Given the description of an element on the screen output the (x, y) to click on. 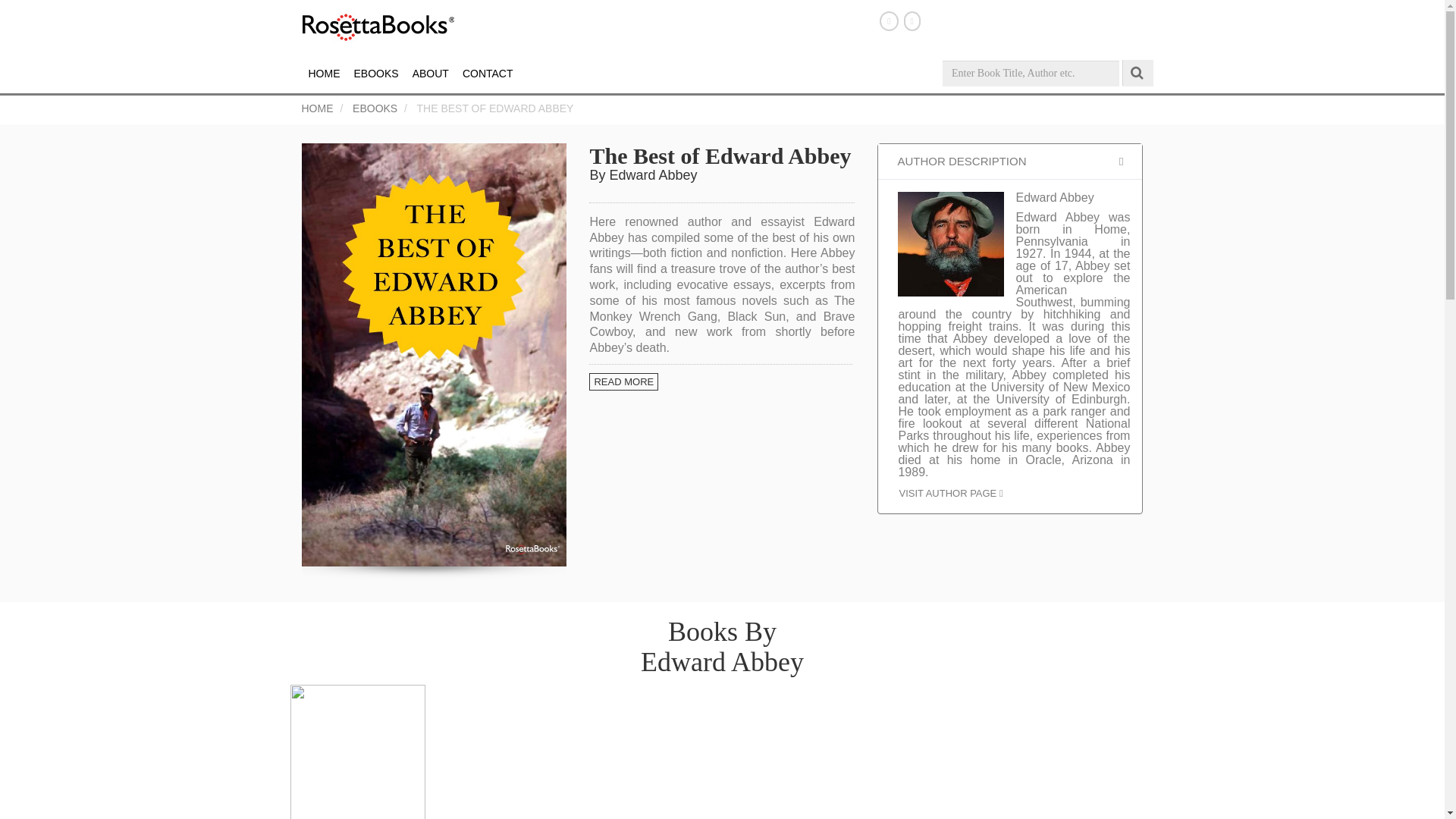
AUTHOR DESCRIPTION (1009, 161)
ABOUT (430, 73)
VISIT AUTHOR PAGE (950, 492)
EBOOKS (374, 108)
HOME (324, 73)
EBOOKS (376, 73)
CONTACT (487, 73)
HOME (317, 108)
READ MORE (720, 376)
